Given the description of an element on the screen output the (x, y) to click on. 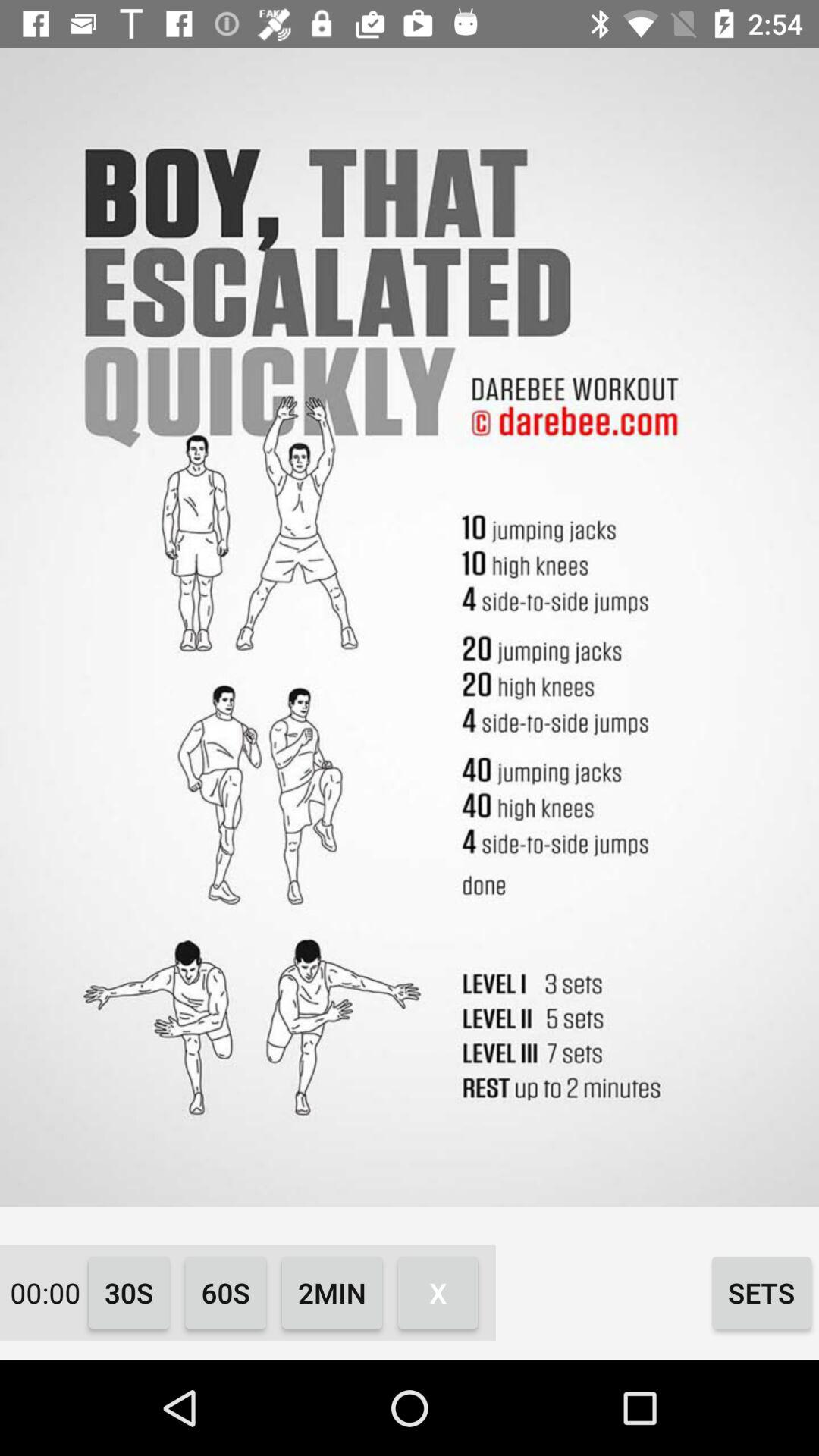
turn off the icon to the left of the sets (437, 1292)
